Given the description of an element on the screen output the (x, y) to click on. 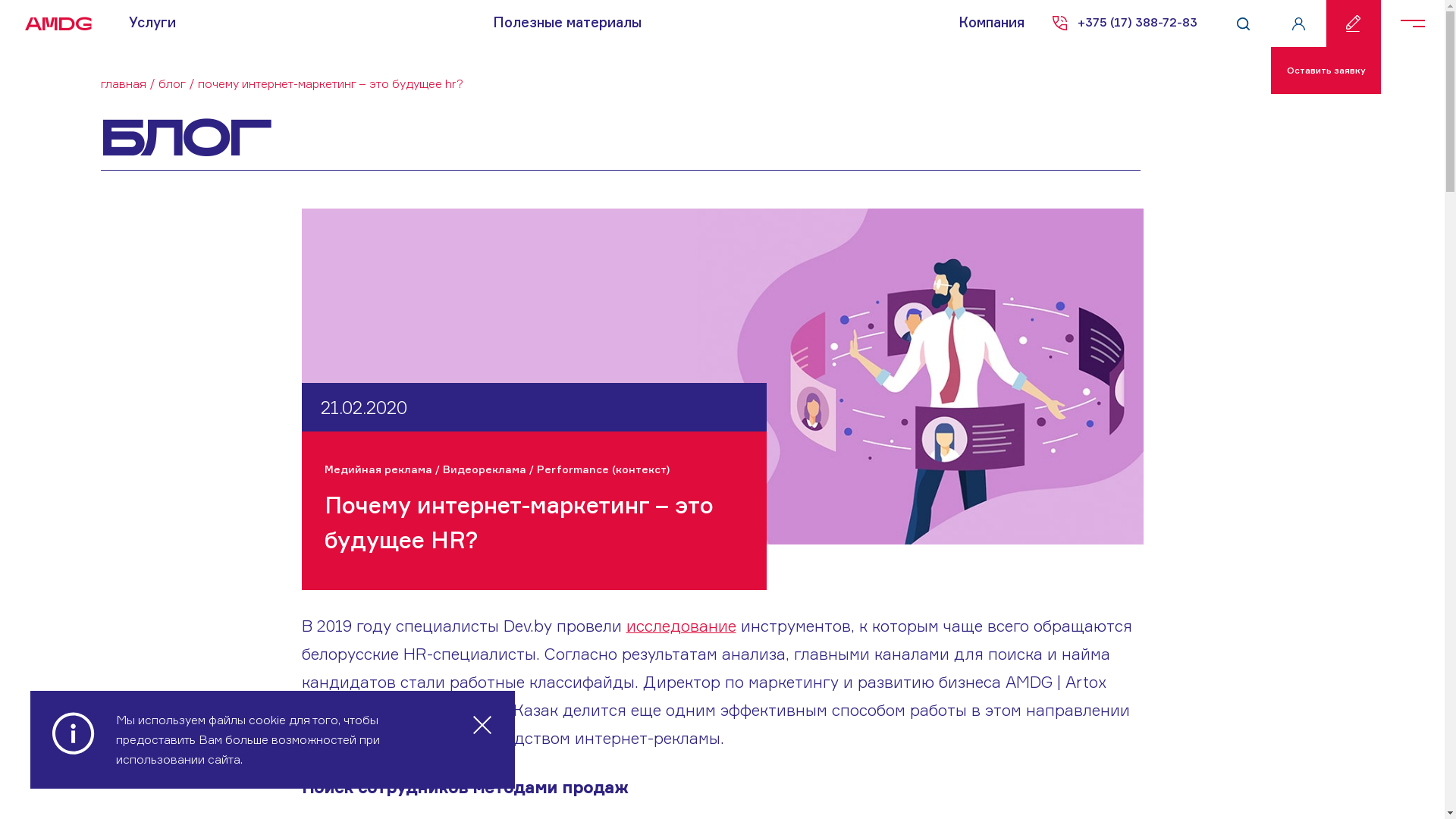
AMDG Element type: text (53, 23)
